Given the description of an element on the screen output the (x, y) to click on. 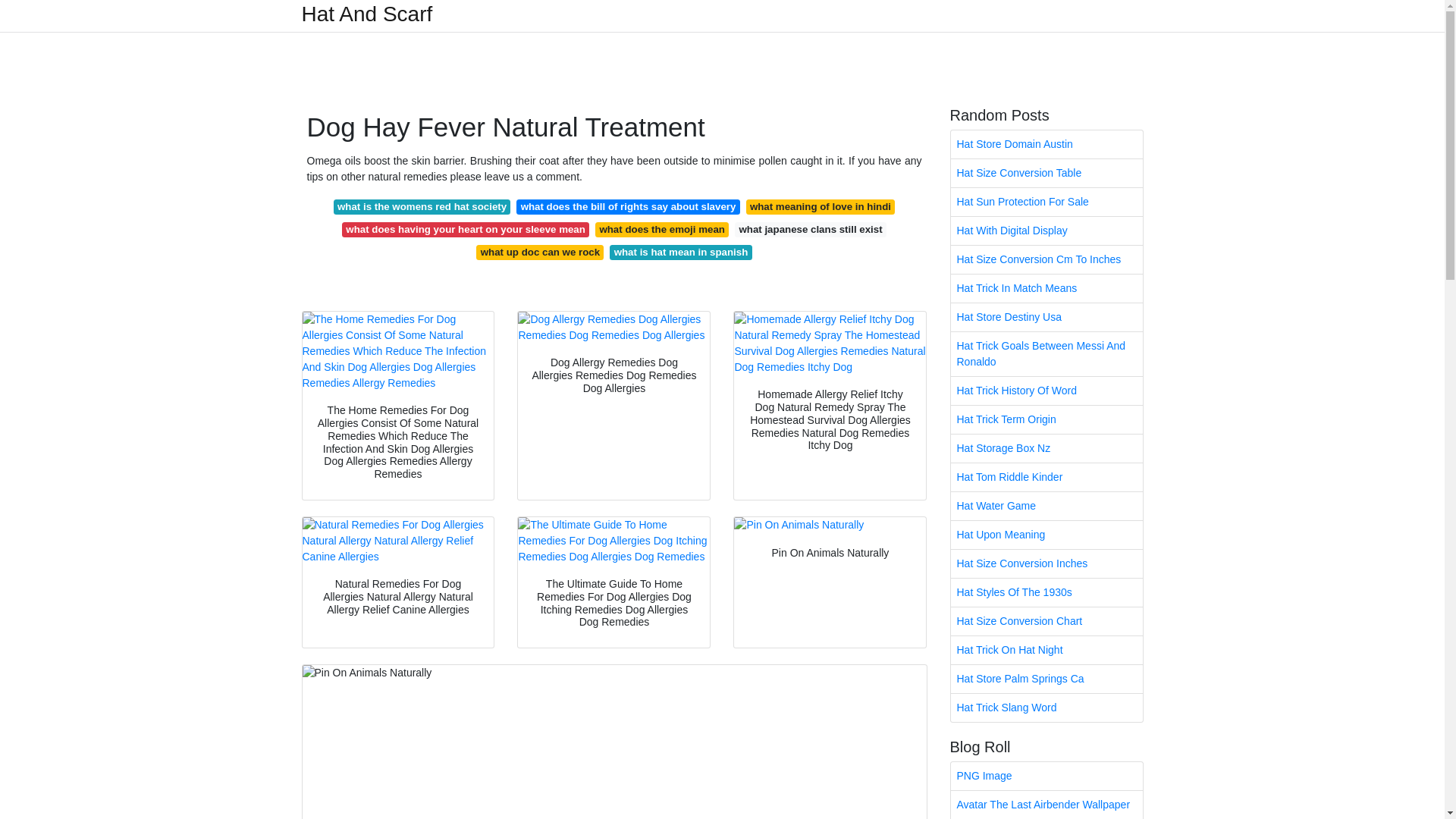
Hat Store Destiny Usa (1046, 317)
Hat And Scarf (366, 13)
Hat Size Conversion Table (1046, 172)
Hat Trick Term Origin (1046, 419)
what does the bill of rights say about slavery (627, 206)
Hat Size Conversion Cm To Inches (1046, 259)
what does having your heart on your sleeve mean (465, 229)
what is hat mean in spanish (680, 252)
what is the womens red hat society (422, 206)
what meaning of love in hindi (820, 206)
